Given the description of an element on the screen output the (x, y) to click on. 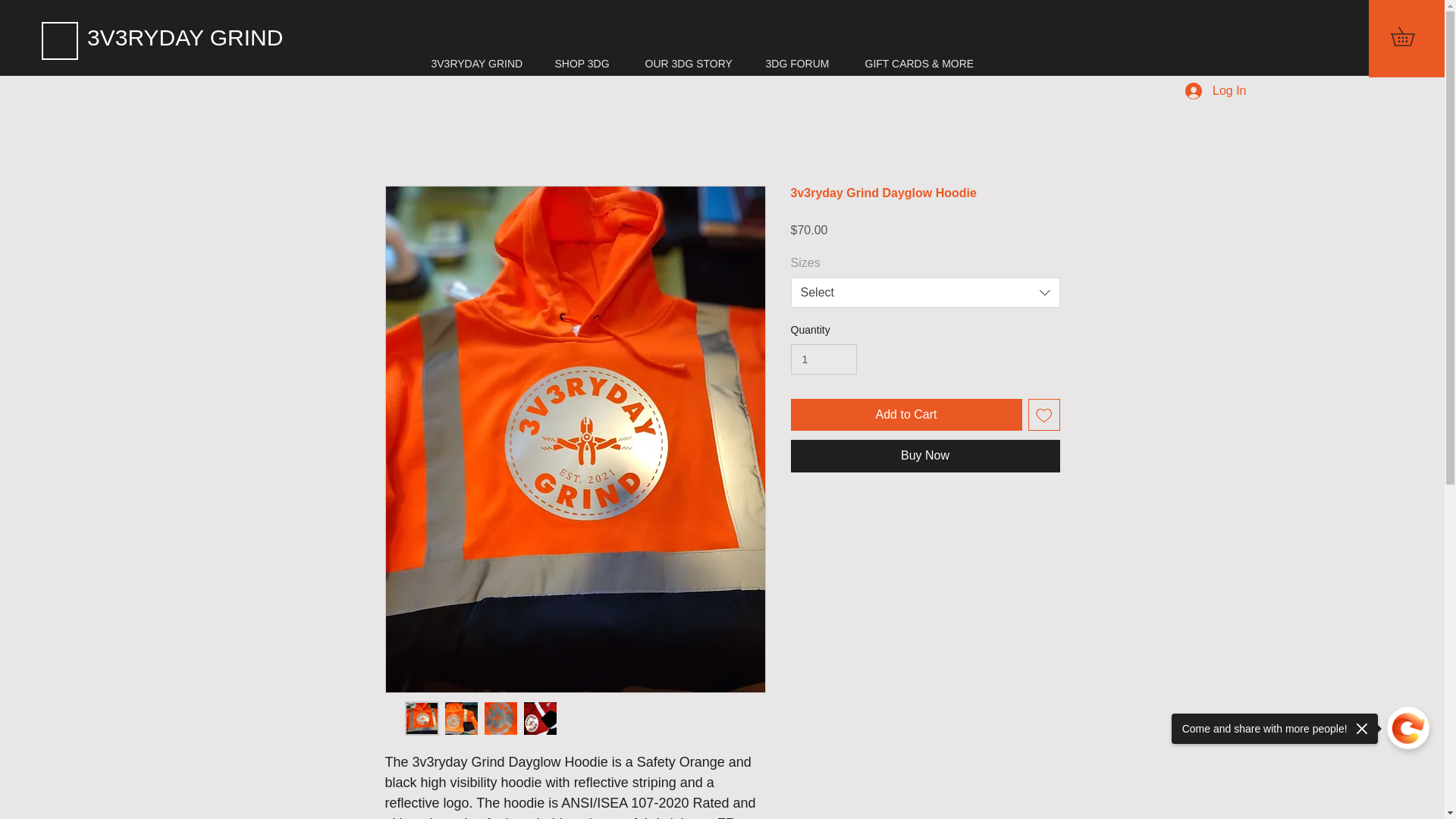
1 (823, 359)
3DG FORUM (803, 64)
Log In (1215, 90)
OUR 3DG STORY (693, 64)
Buy Now (924, 455)
Add to Cart (906, 414)
3V3RYDAY GRIND (232, 38)
Select (924, 292)
SHOP 3DG (588, 64)
3V3RYDAY GRIND (481, 64)
